Given the description of an element on the screen output the (x, y) to click on. 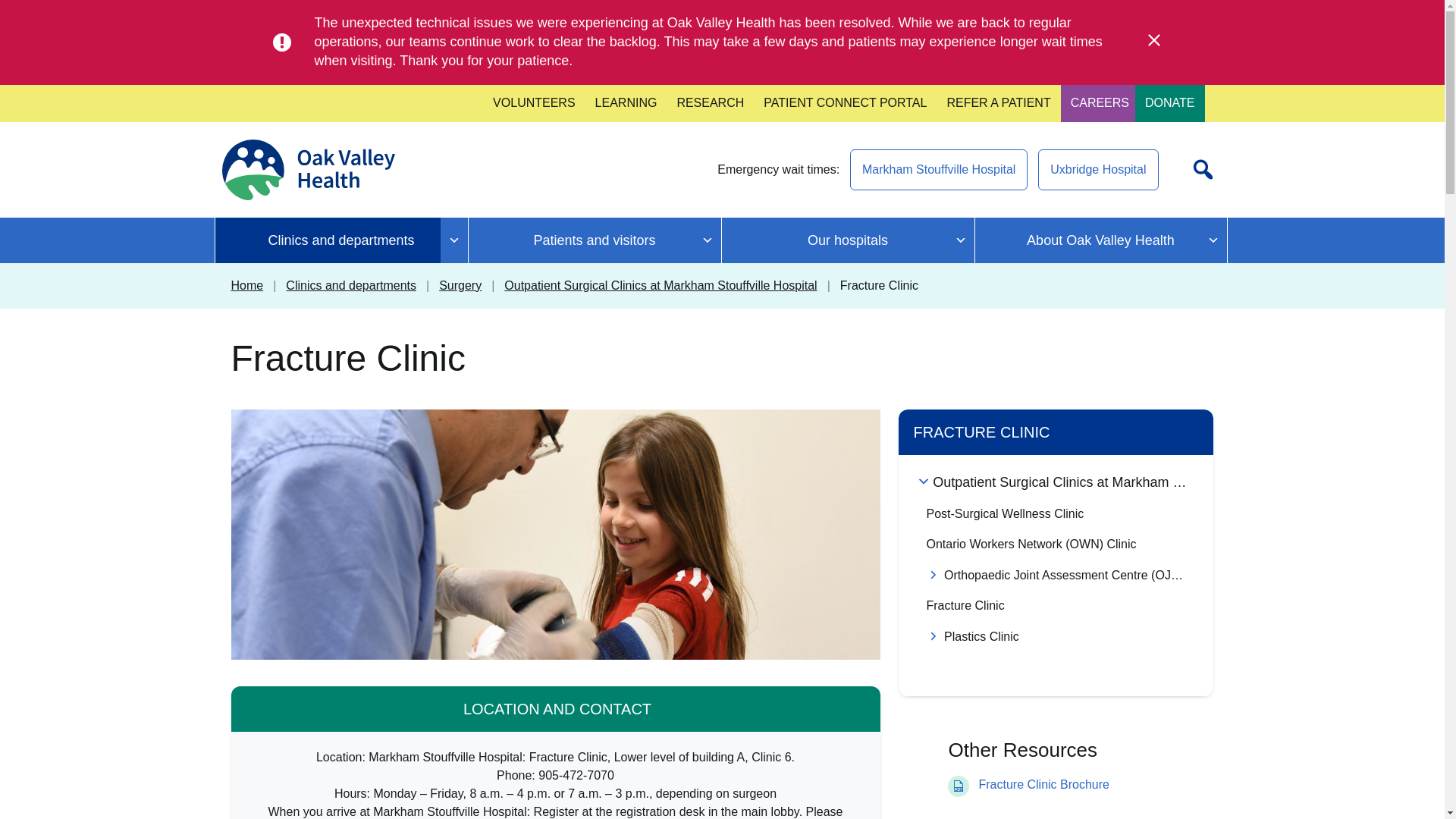
Go to Clinics and departments. (350, 285)
Go to Surgery. (460, 285)
Go to Oak Valley Health. (246, 285)
